Given the description of an element on the screen output the (x, y) to click on. 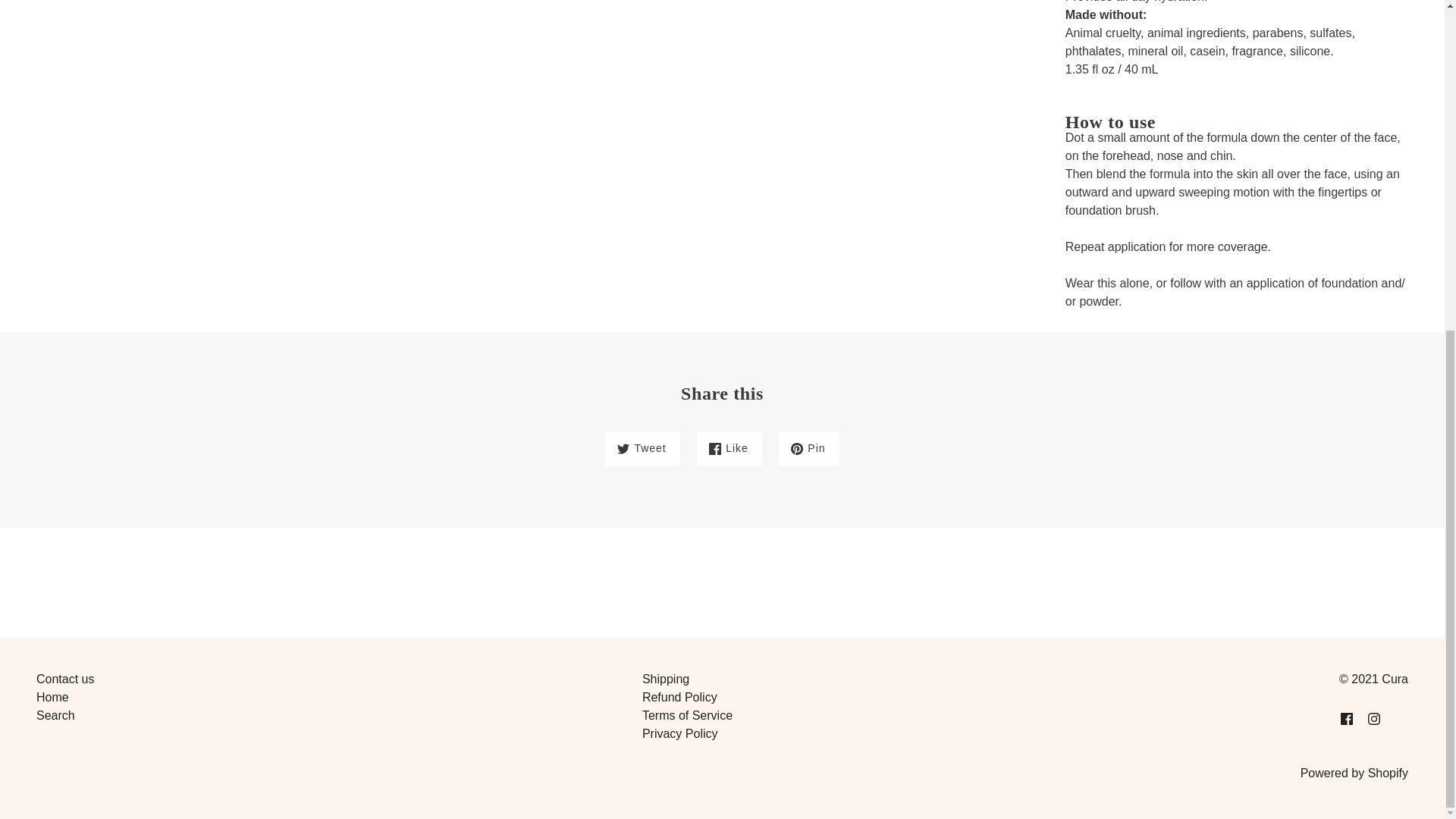
Shipping  (665, 678)
Privacy Policy (679, 733)
Refund Policy (679, 697)
Contact us (65, 678)
Home (52, 697)
Search (55, 715)
Terms of Service (687, 715)
